Given the description of an element on the screen output the (x, y) to click on. 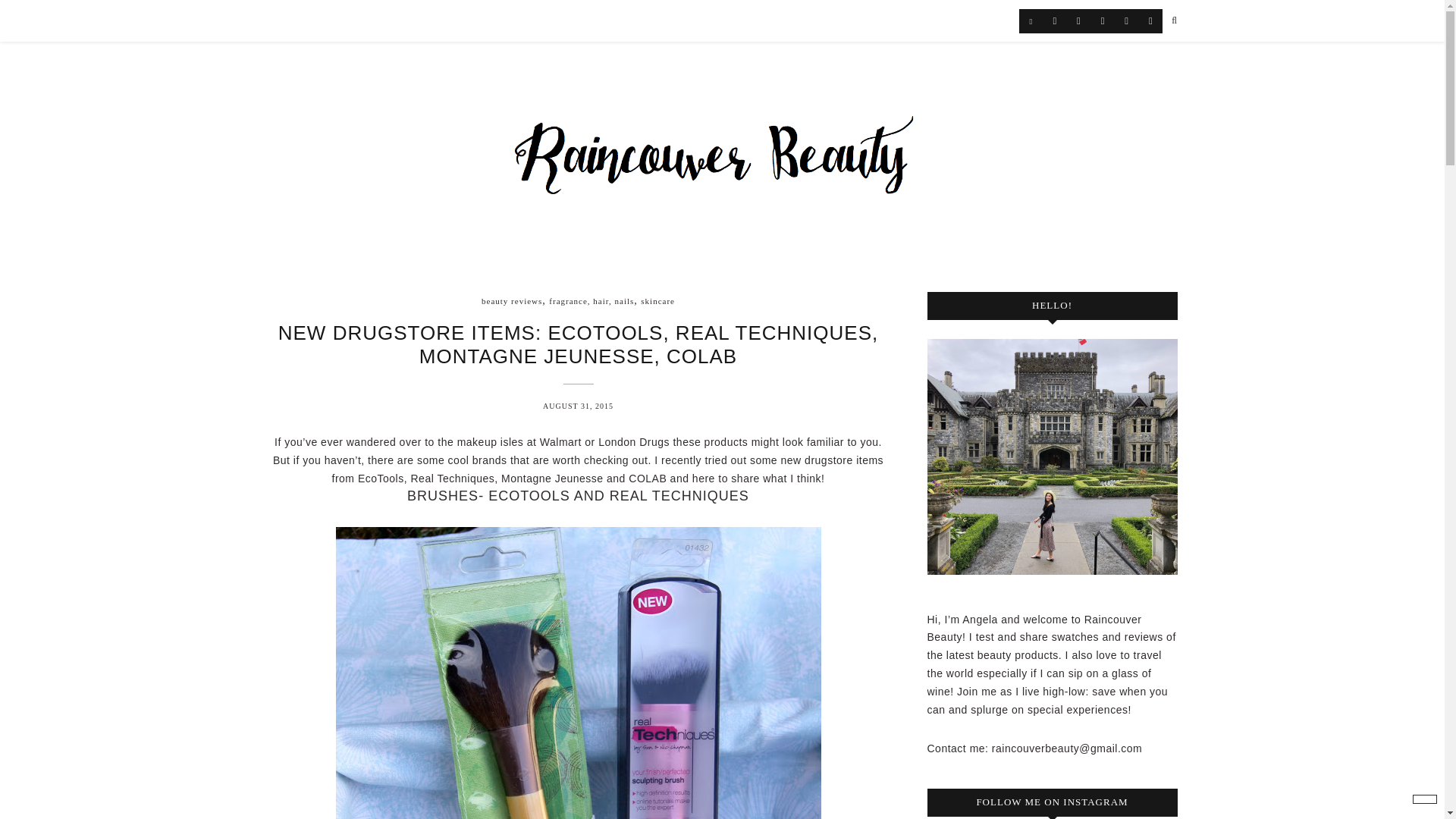
Instagram (1054, 21)
Raincouver Beauty (722, 147)
TRAVEL (625, 20)
Facebook (1102, 21)
Twitter (1078, 21)
HOME (281, 20)
LIFESTYLE (536, 20)
Contact (1150, 21)
Blog Lovin' (1031, 21)
BEAUTY (446, 20)
ABOUT ME (360, 20)
WORK WITH ME (723, 20)
Pinterest (1126, 21)
